Given the description of an element on the screen output the (x, y) to click on. 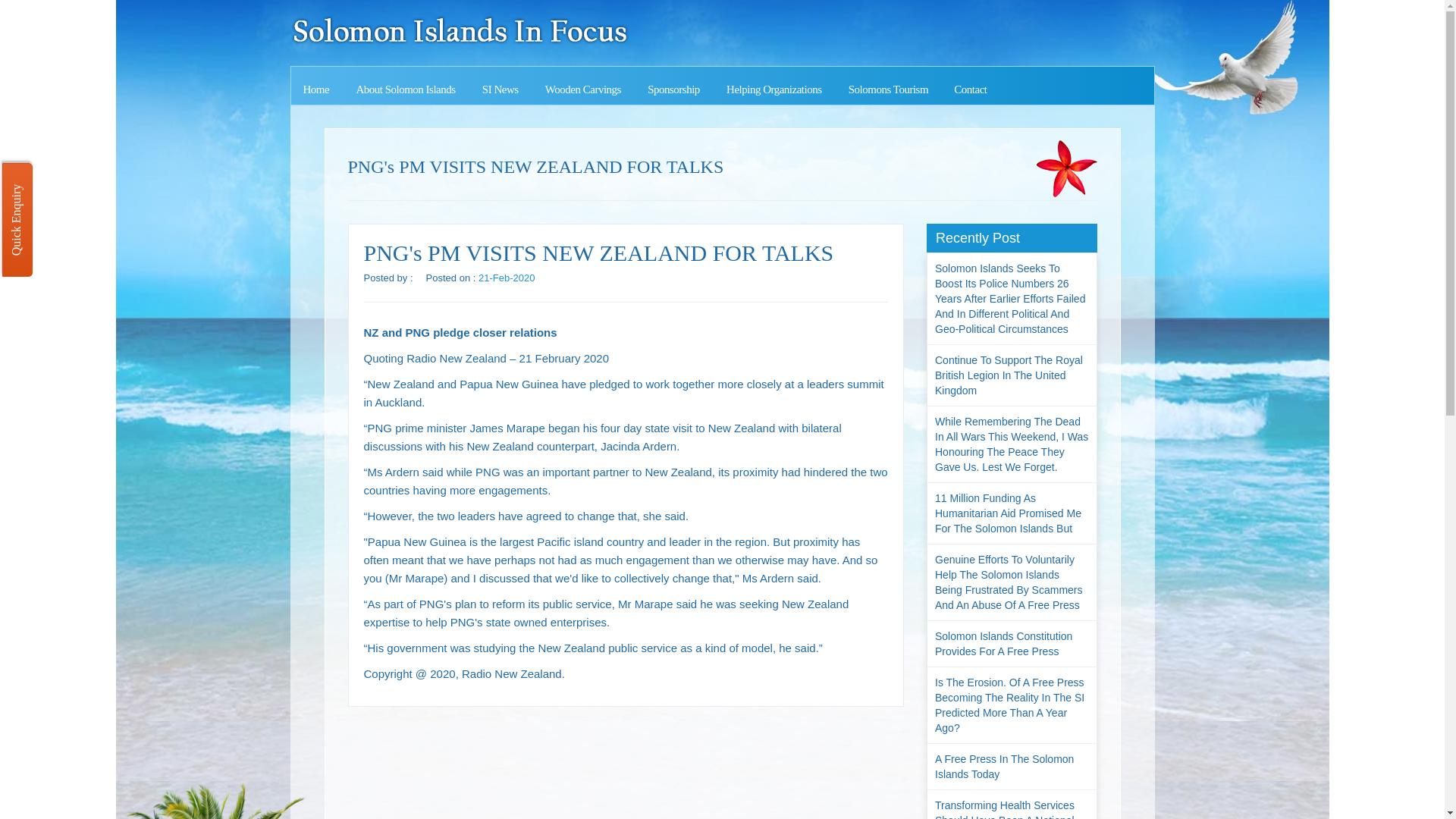
SI News (500, 89)
Wooden Carvings (582, 89)
Solomon Islands Constitution Provides For A Free Press (1011, 643)
Sponsorship (672, 89)
Contact (969, 89)
Sponsorship (672, 89)
Home (316, 89)
